Given the description of an element on the screen output the (x, y) to click on. 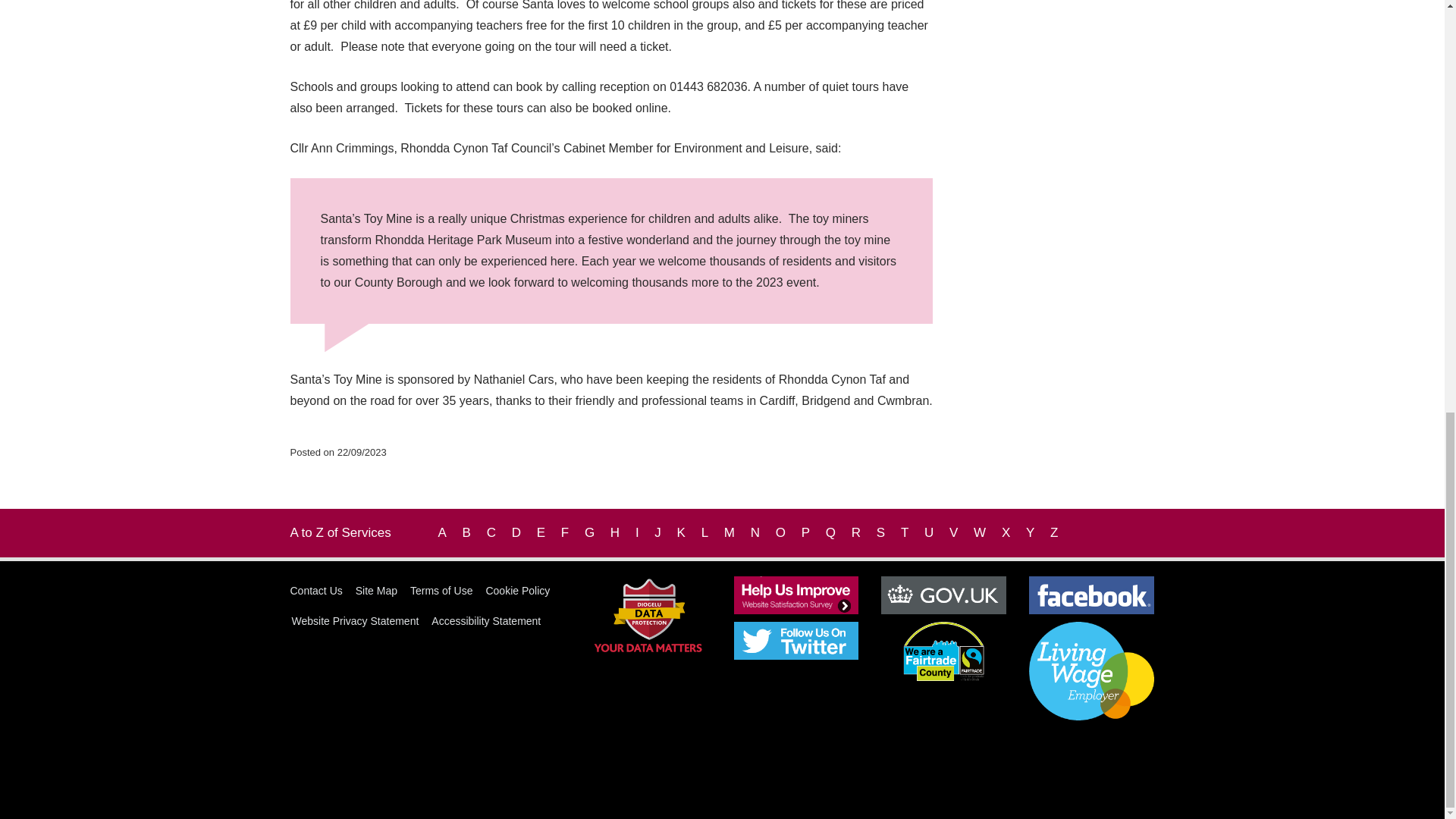
Rhondda Cynon Taf on Twitter (796, 640)
Rhondda Cynon Taf on Facebook (1091, 595)
www.gov.uk (943, 595)
Rhondda Cynon Taf is a Living Wage Employer (1091, 670)
Data Protection (647, 614)
Website Survey (796, 595)
